Given the description of an element on the screen output the (x, y) to click on. 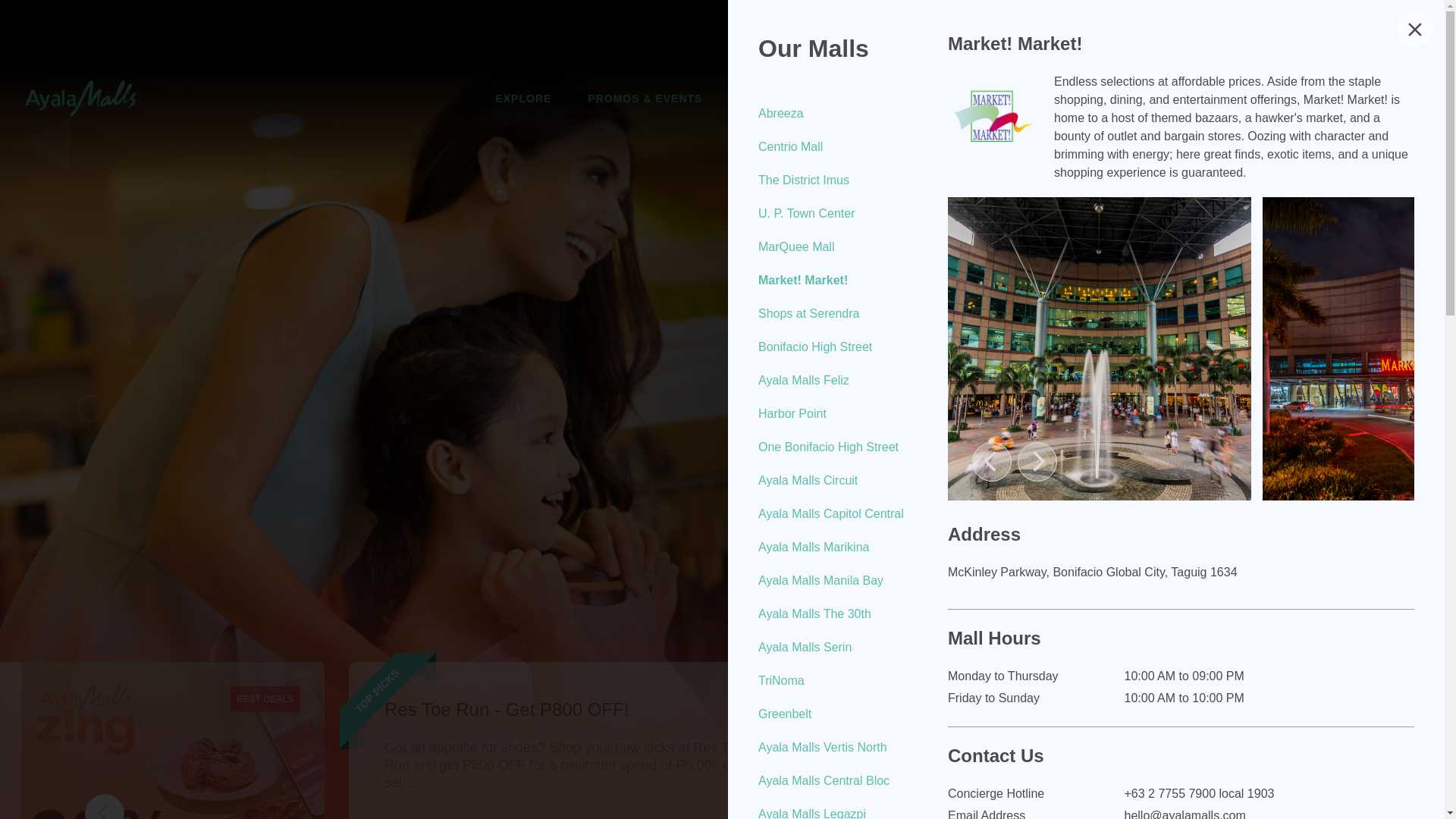
CINEMAS (765, 97)
EXPLORE (523, 97)
REWARDS (859, 97)
Advertisement (727, 33)
SIGN-UP NOW! (1338, 98)
MORE (943, 97)
